Given the description of an element on the screen output the (x, y) to click on. 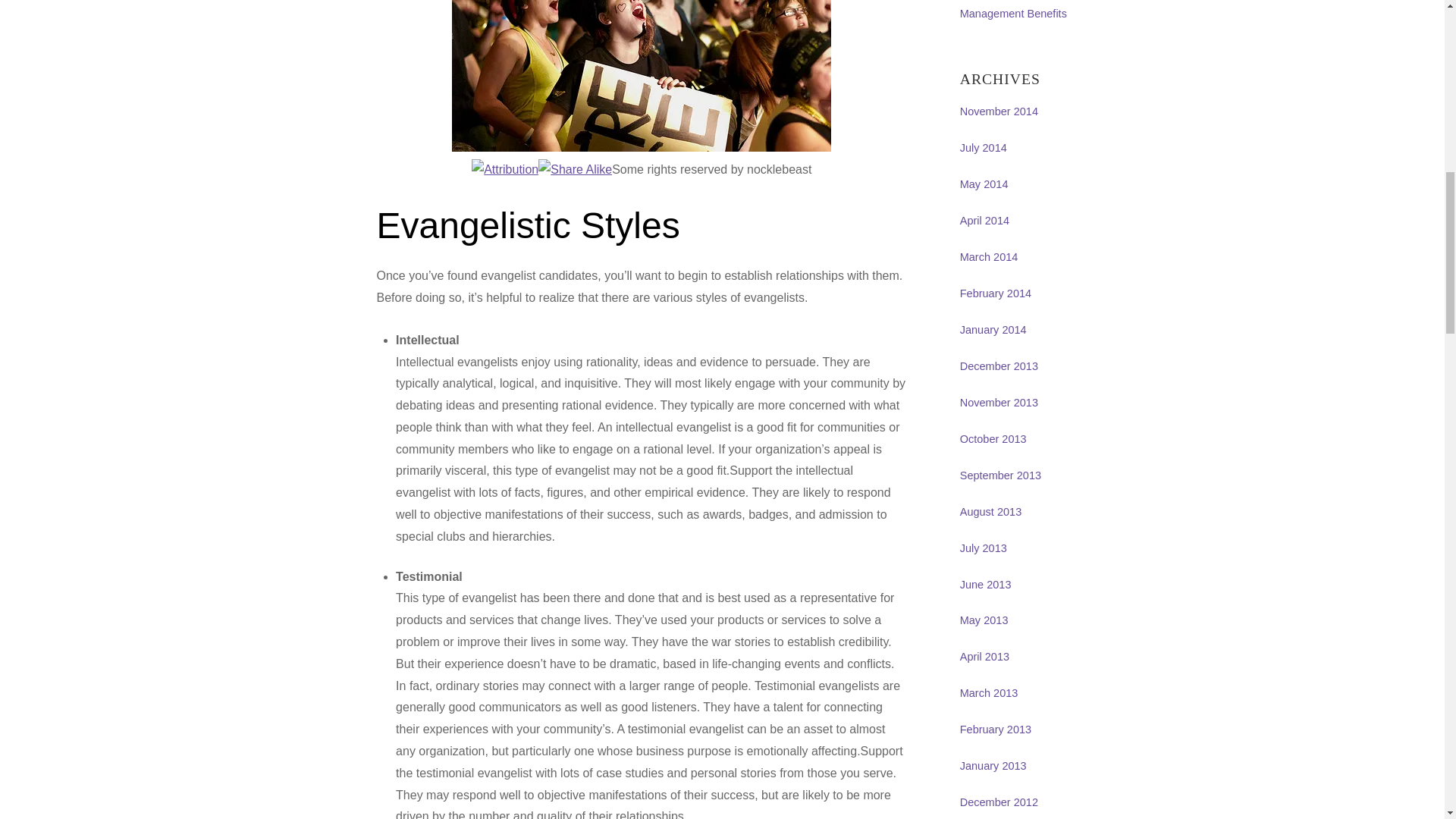
Passionate Bay Area Fans (641, 75)
Share Alike (574, 169)
Attribution (504, 169)
